Given the description of an element on the screen output the (x, y) to click on. 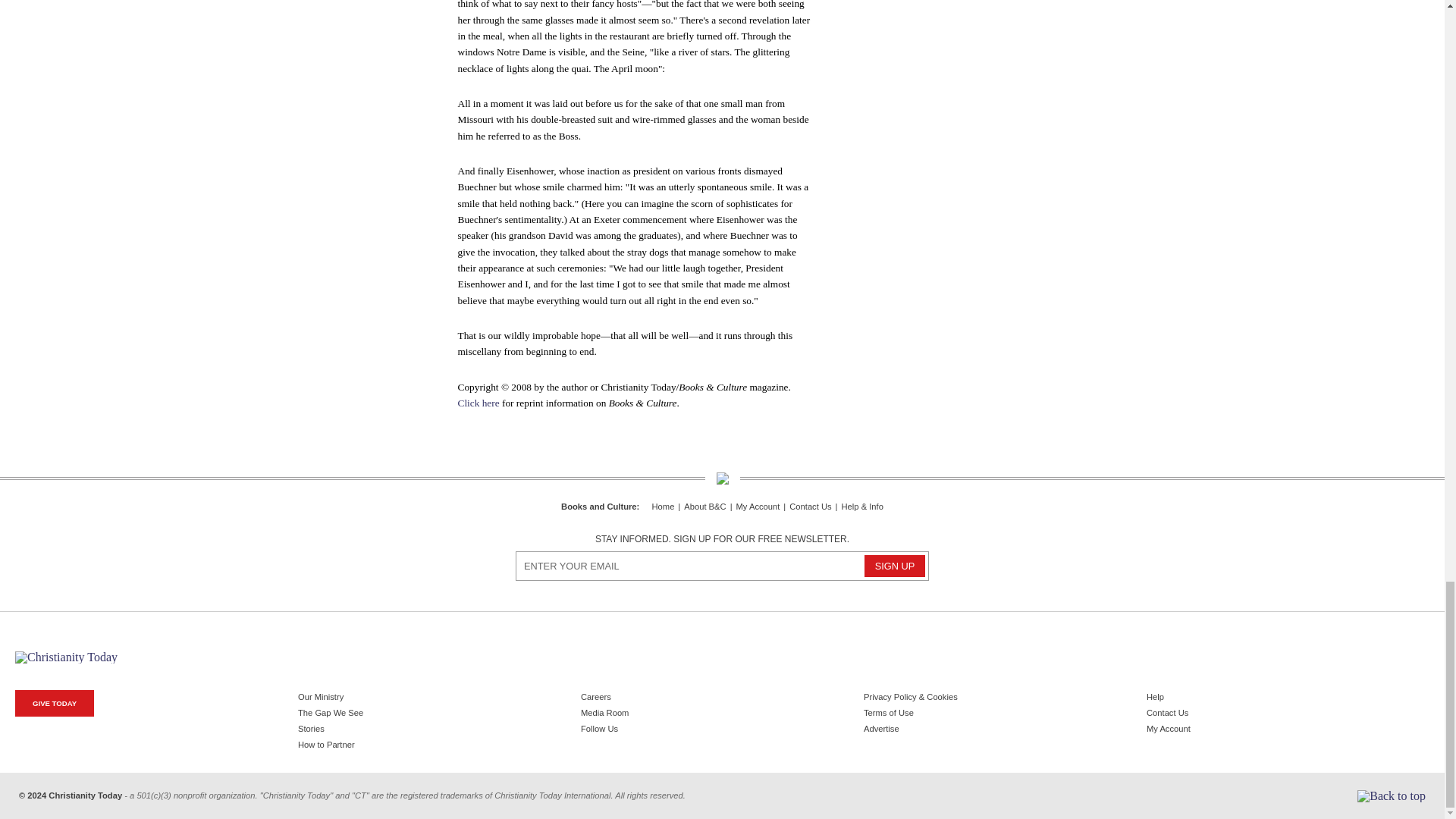
Christianity Today (65, 657)
Back to top (1390, 796)
Click here (478, 402)
Sign Up (894, 566)
